Given the description of an element on the screen output the (x, y) to click on. 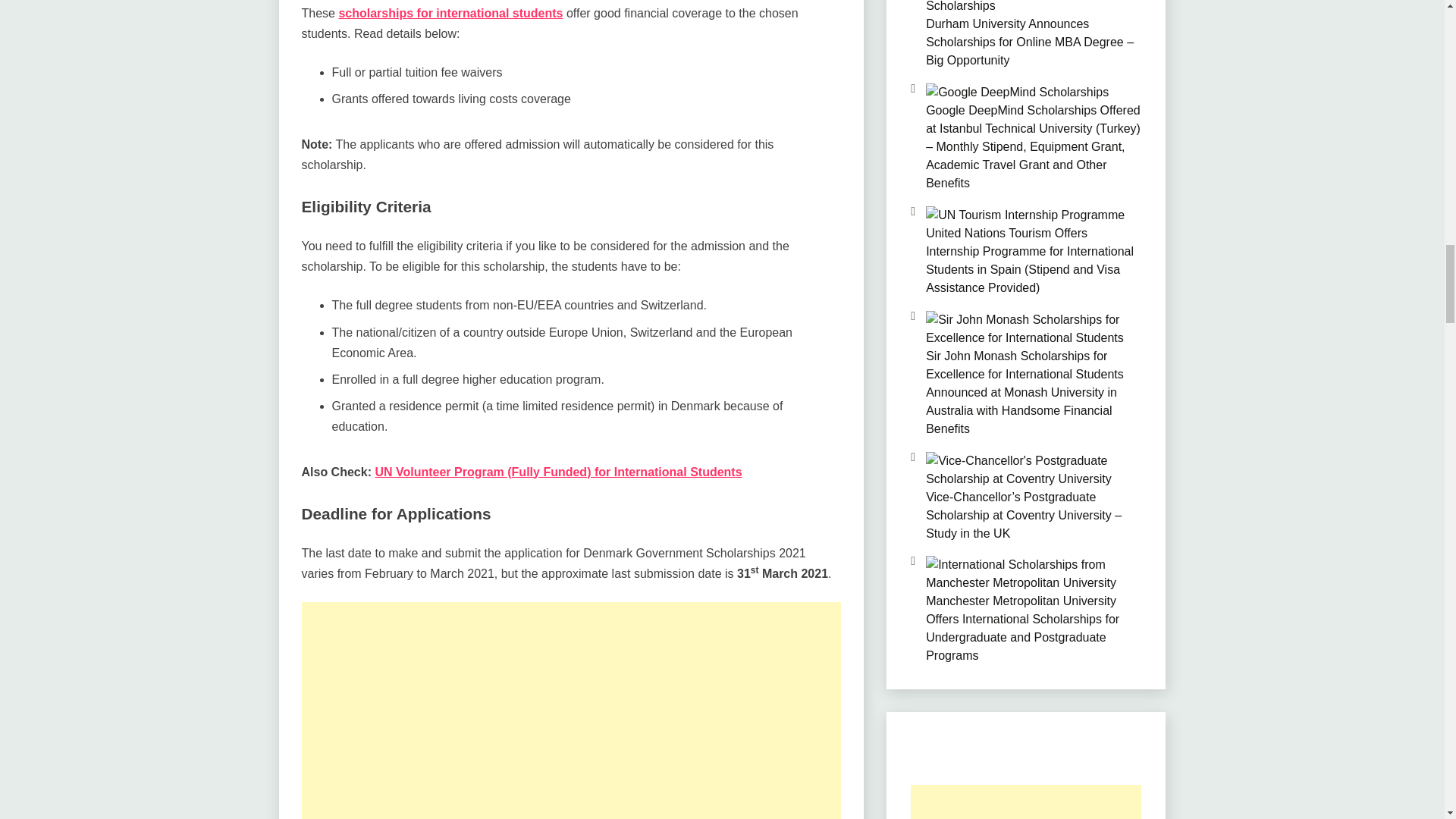
scholarships for international students (449, 12)
